Given the description of an element on the screen output the (x, y) to click on. 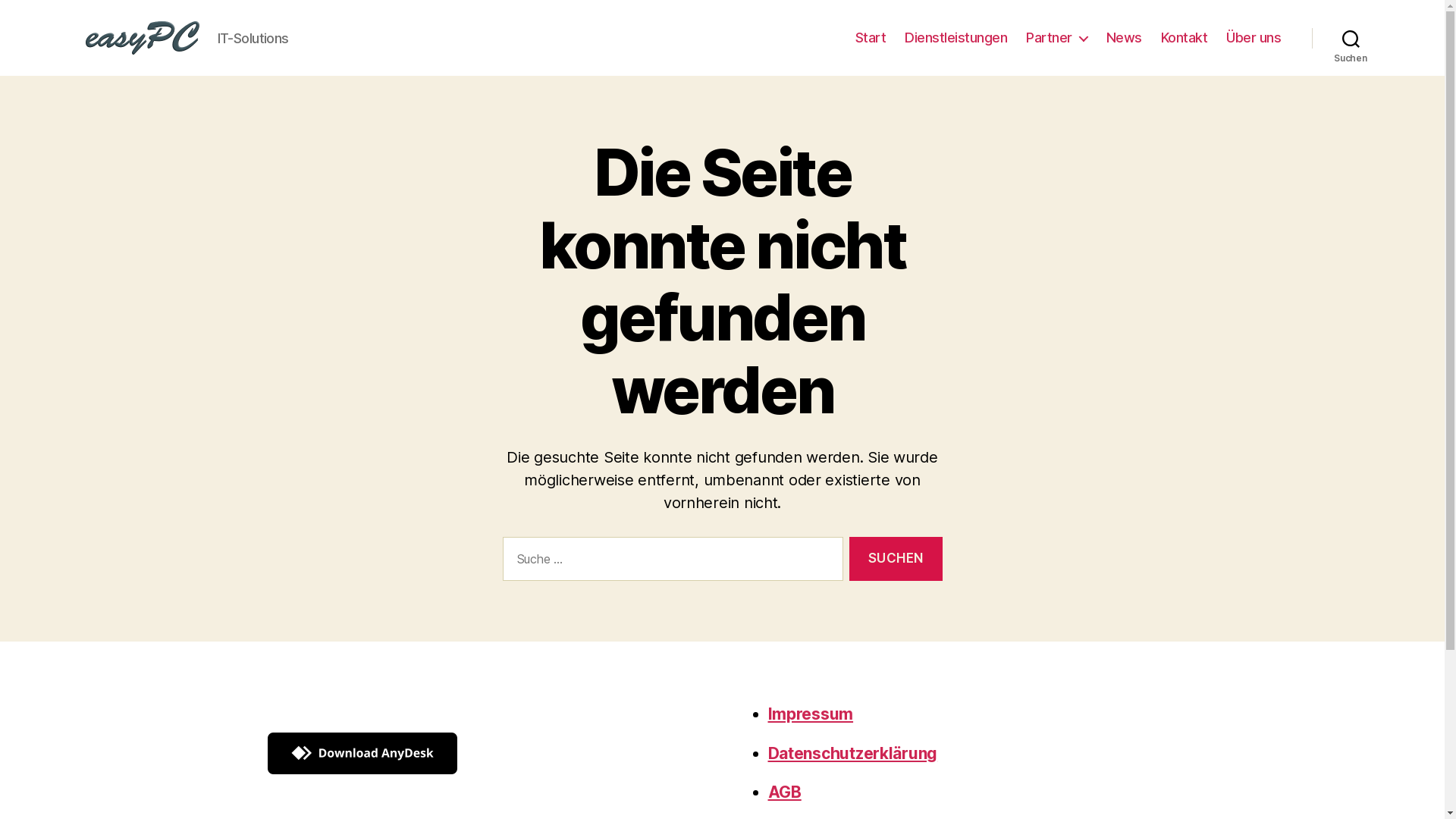
AGB Element type: text (783, 791)
Kontakt Element type: text (1184, 37)
Start Element type: text (870, 37)
Impressum Element type: text (810, 713)
News Element type: text (1124, 37)
Partner Element type: text (1056, 37)
Suchen Element type: text (895, 558)
Suchen Element type: text (1350, 37)
Dienstleistungen Element type: text (955, 37)
